Given the description of an element on the screen output the (x, y) to click on. 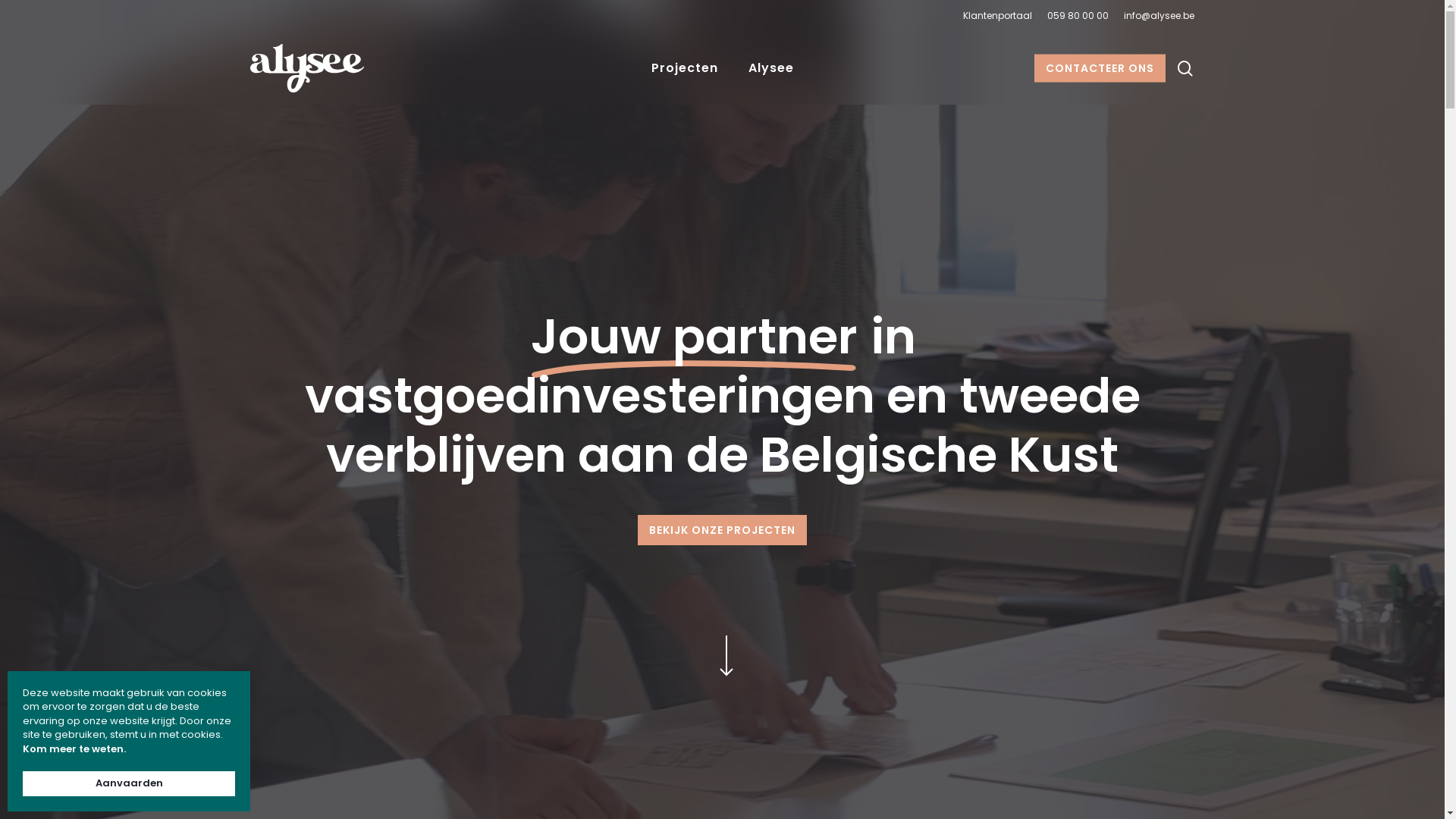
CONTACTEER ONS Element type: text (1099, 67)
Projecten Element type: text (683, 68)
Klantenportaal Element type: text (997, 15)
Kom meer te weten. Element type: text (73, 749)
search Element type: text (1185, 68)
info@alysee.be Element type: text (1158, 15)
BEKIJK ONZE PROJECTEN Element type: text (721, 529)
059 80 00 00 Element type: text (1077, 15)
Alysee Element type: text (770, 68)
